Given the description of an element on the screen output the (x, y) to click on. 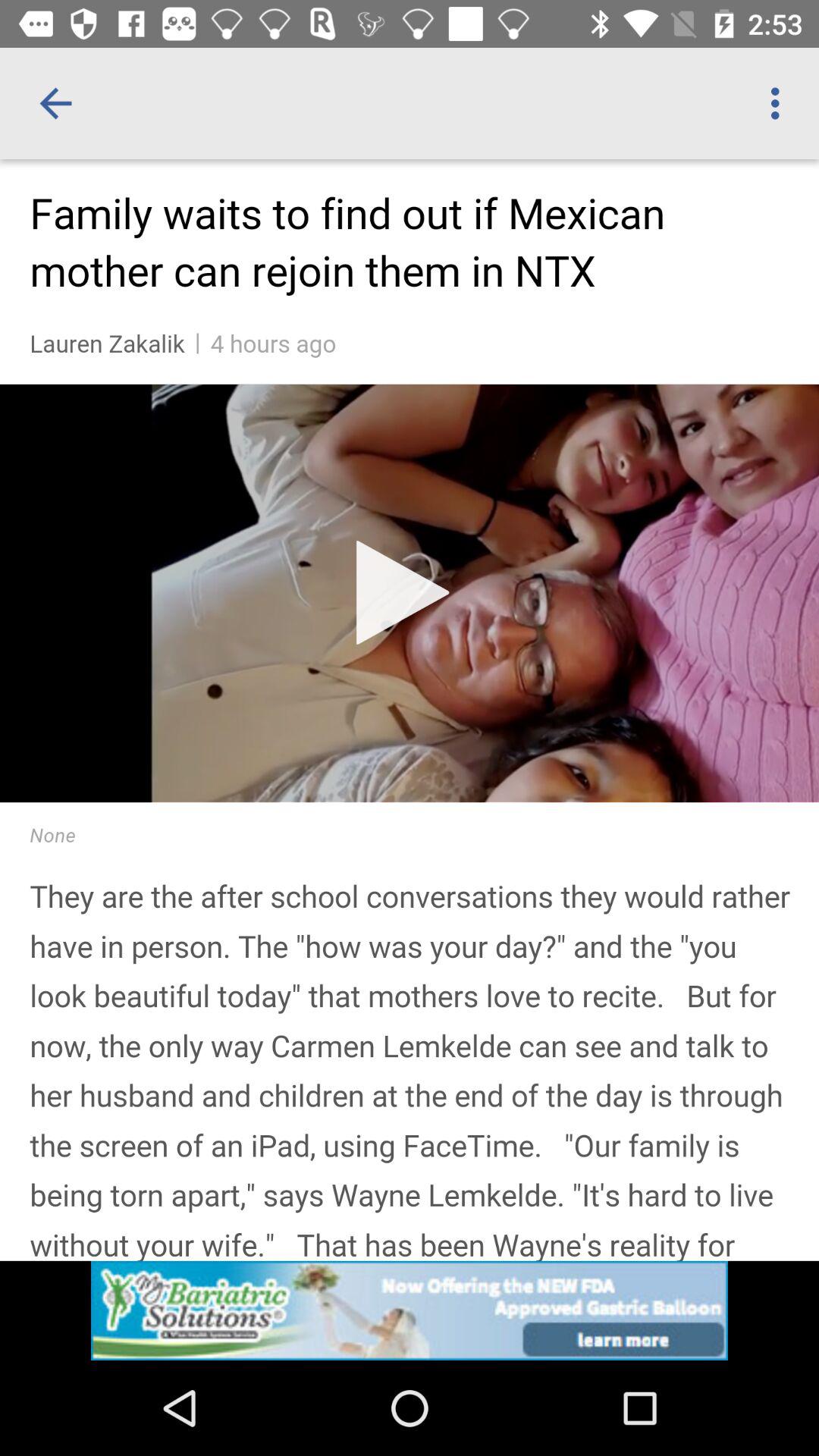
content area (409, 759)
